Given the description of an element on the screen output the (x, y) to click on. 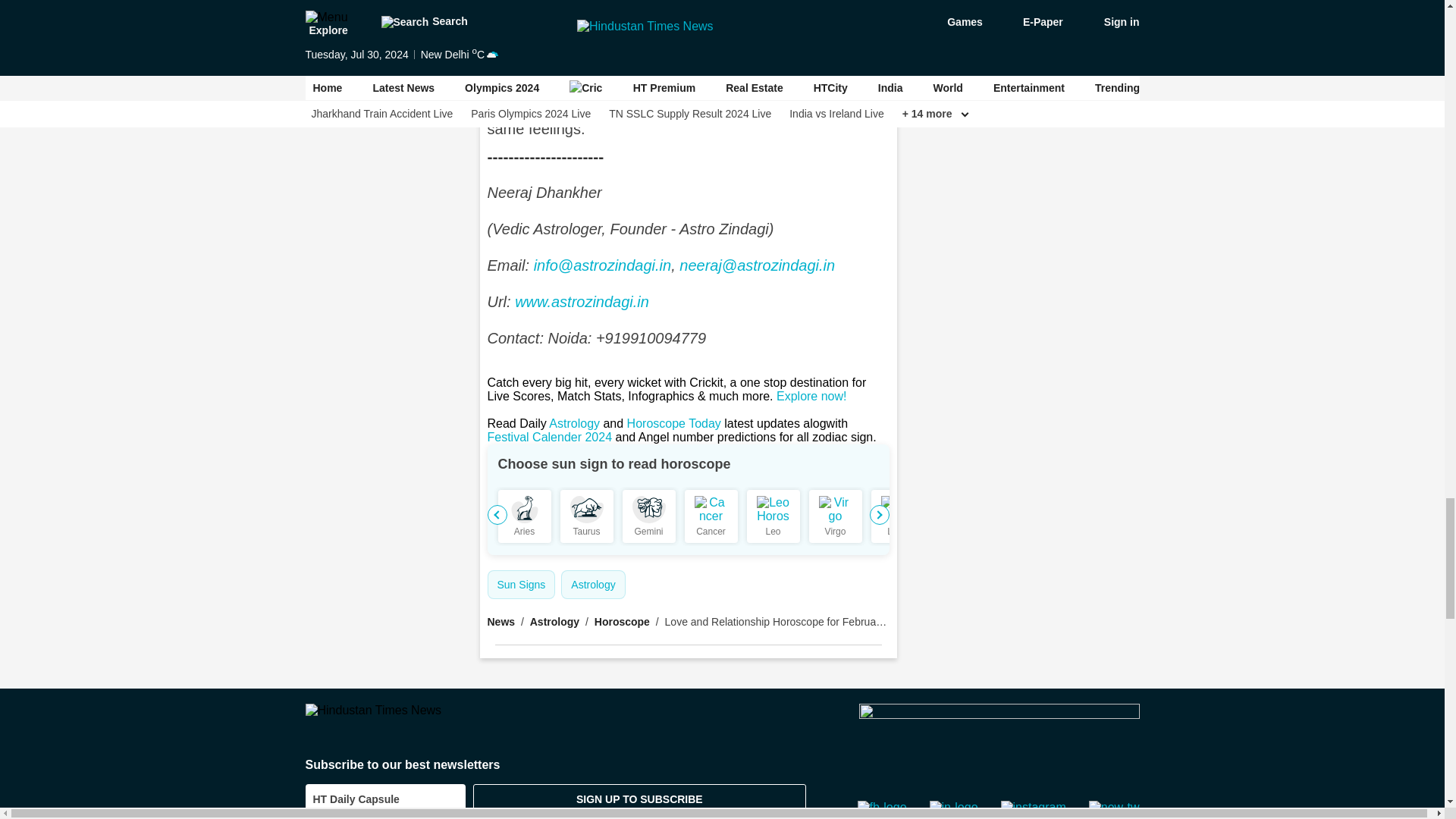
Taurus Horoscope (587, 509)
Cancer Horoscope (711, 509)
Gemini Horoscope (648, 509)
Aries Horoscope (524, 509)
